Given the description of an element on the screen output the (x, y) to click on. 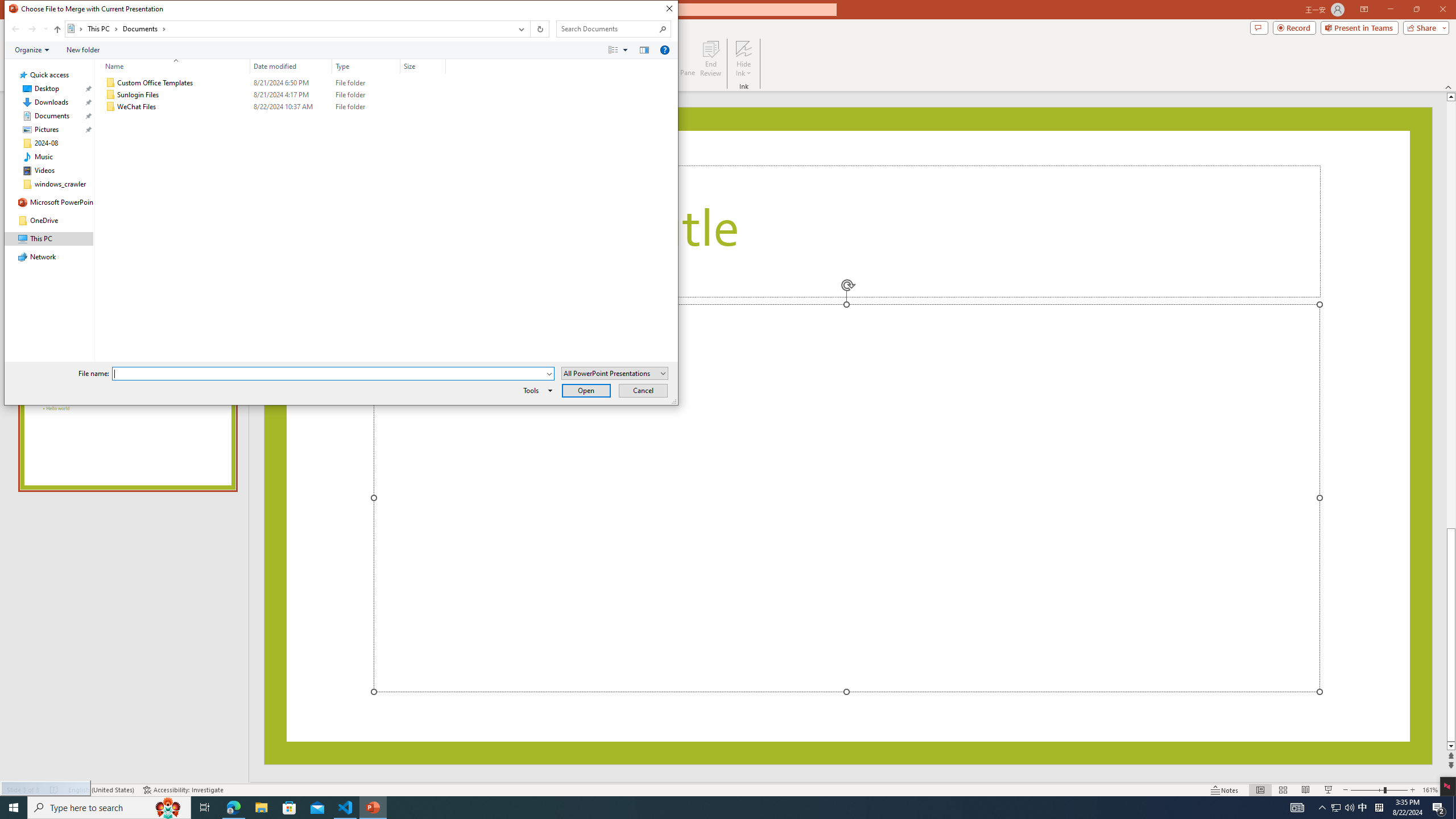
Search (663, 28)
Navigation buttons (28, 28)
